Given the description of an element on the screen output the (x, y) to click on. 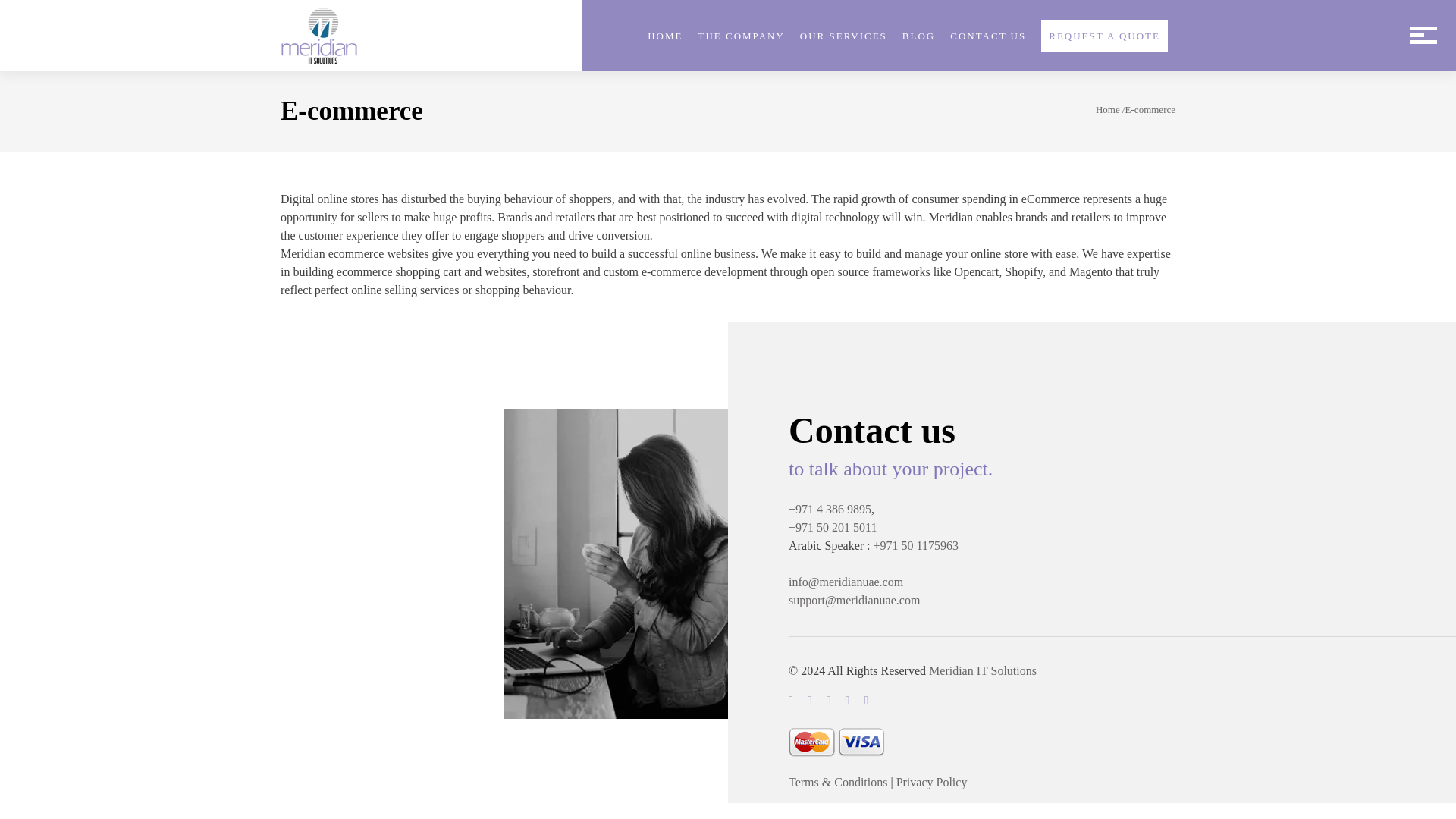
BLOG (918, 36)
OUR SERVICES (842, 36)
Meridian IT Solutions (982, 670)
REQUEST A QUOTE (1104, 36)
CONTACT US (988, 36)
THE COMPANY (740, 36)
Home (1107, 109)
index.html (319, 35)
HOME (664, 36)
